Given the description of an element on the screen output the (x, y) to click on. 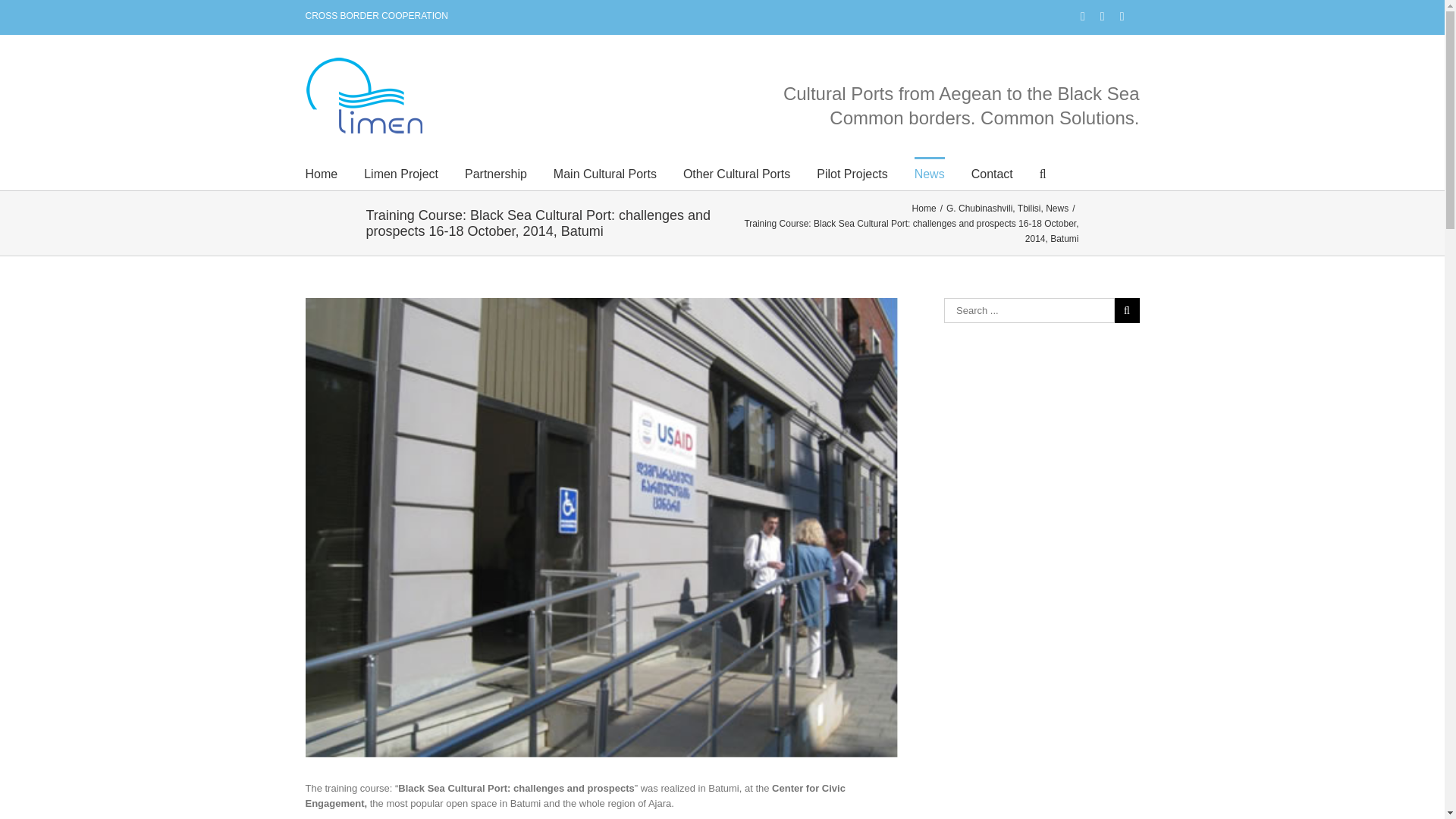
Pilot Projects (851, 173)
Limen Project (401, 173)
Other Cultural Ports (736, 173)
Home (320, 173)
News (929, 173)
Main Cultural Ports (604, 173)
Partnership (495, 173)
